Given the description of an element on the screen output the (x, y) to click on. 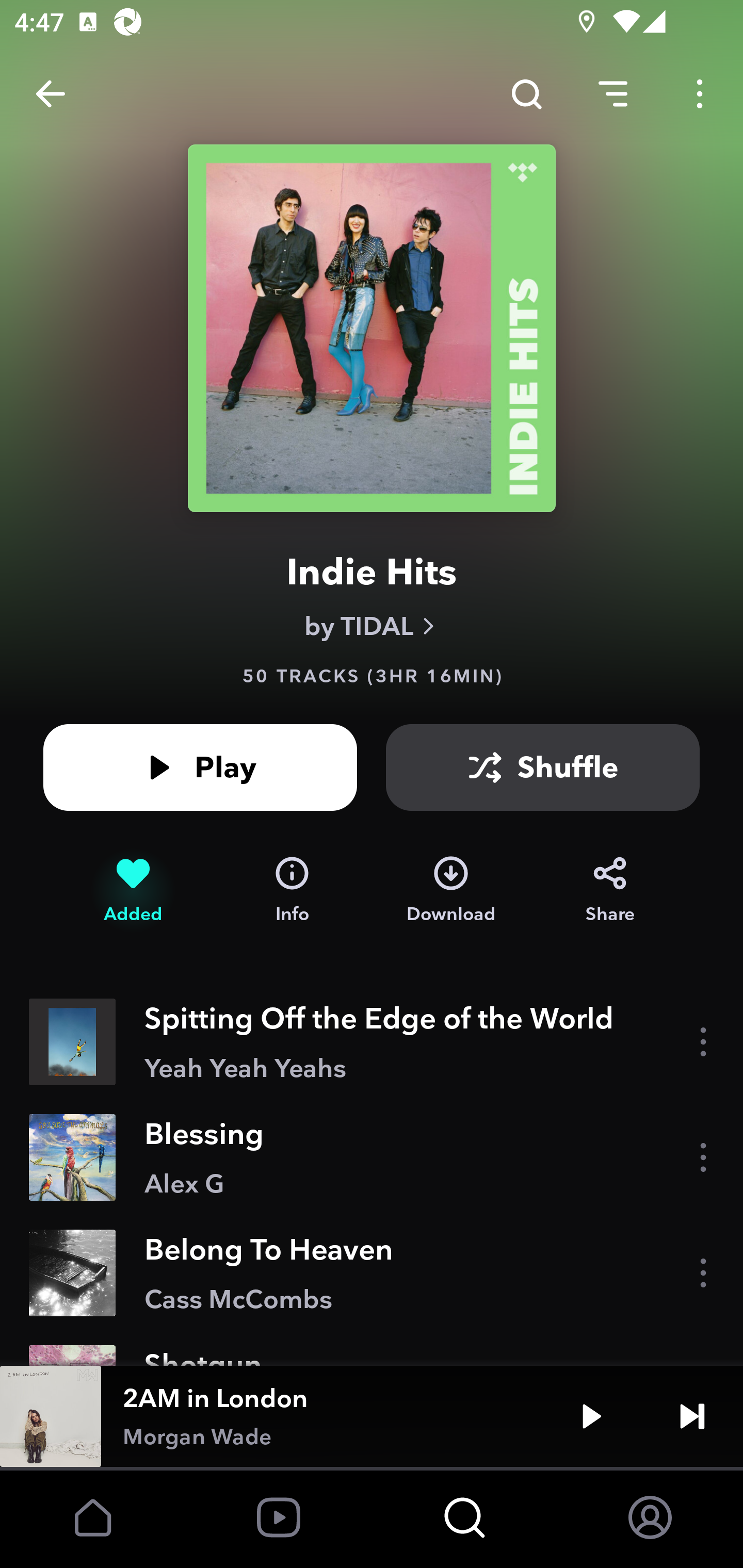
Back (50, 93)
Search (525, 93)
Sorting (612, 93)
Options (699, 93)
by TIDAL (371, 625)
Play (200, 767)
Shuffle (542, 767)
Added (132, 890)
Info (291, 890)
Download (450, 890)
Share (609, 890)
Spitting Off the Edge of the World Yeah Yeah Yeahs (371, 1041)
Blessing Alex G (371, 1157)
Belong To Heaven Cass McCombs (371, 1273)
2AM in London Morgan Wade Play (371, 1416)
Play (590, 1416)
